Given the description of an element on the screen output the (x, y) to click on. 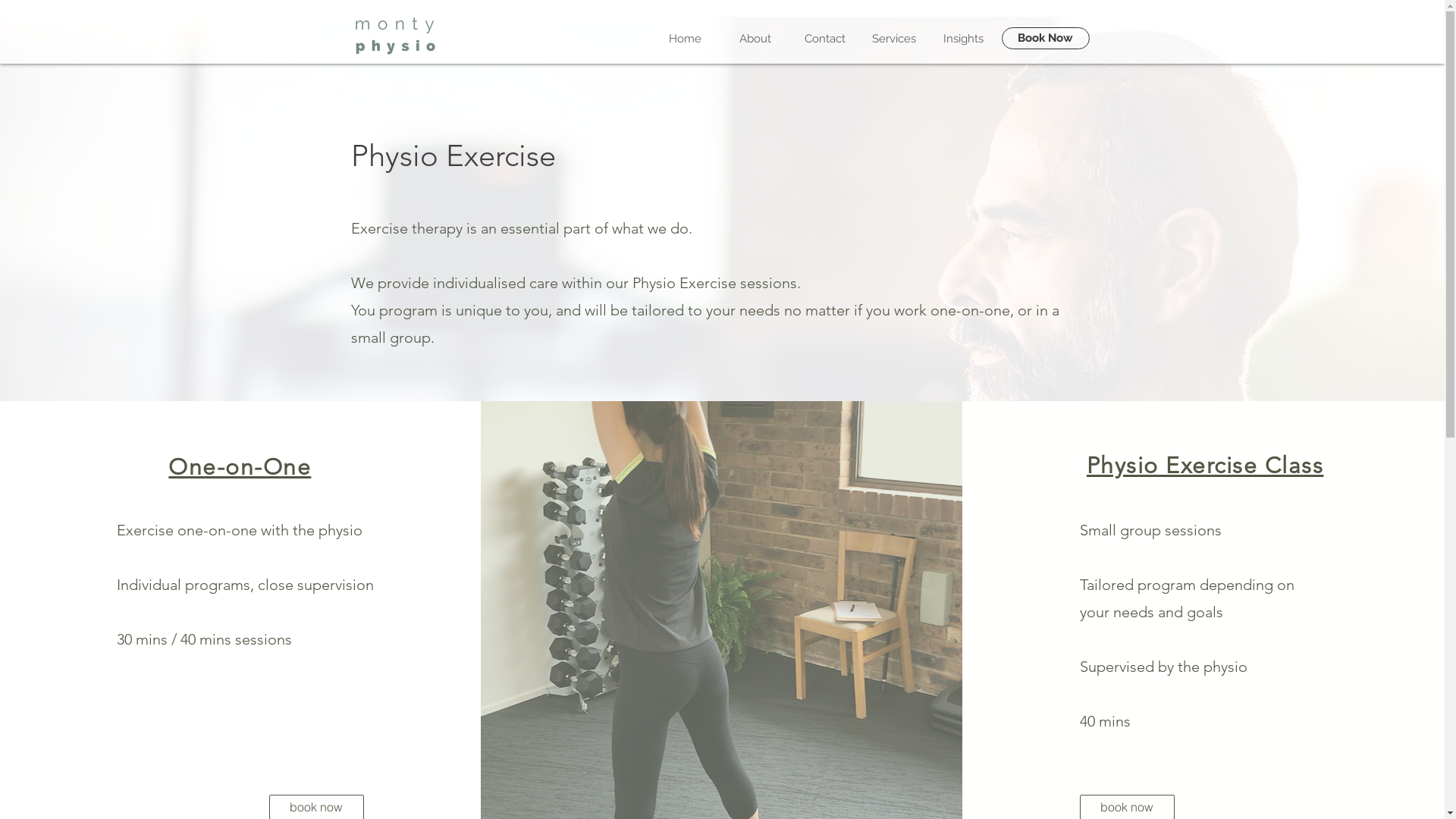
About Element type: text (755, 38)
Book Now Element type: text (1044, 38)
Home Element type: text (685, 38)
Contact Element type: text (824, 38)
Insights Element type: text (962, 38)
Services Element type: text (893, 38)
